Given the description of an element on the screen output the (x, y) to click on. 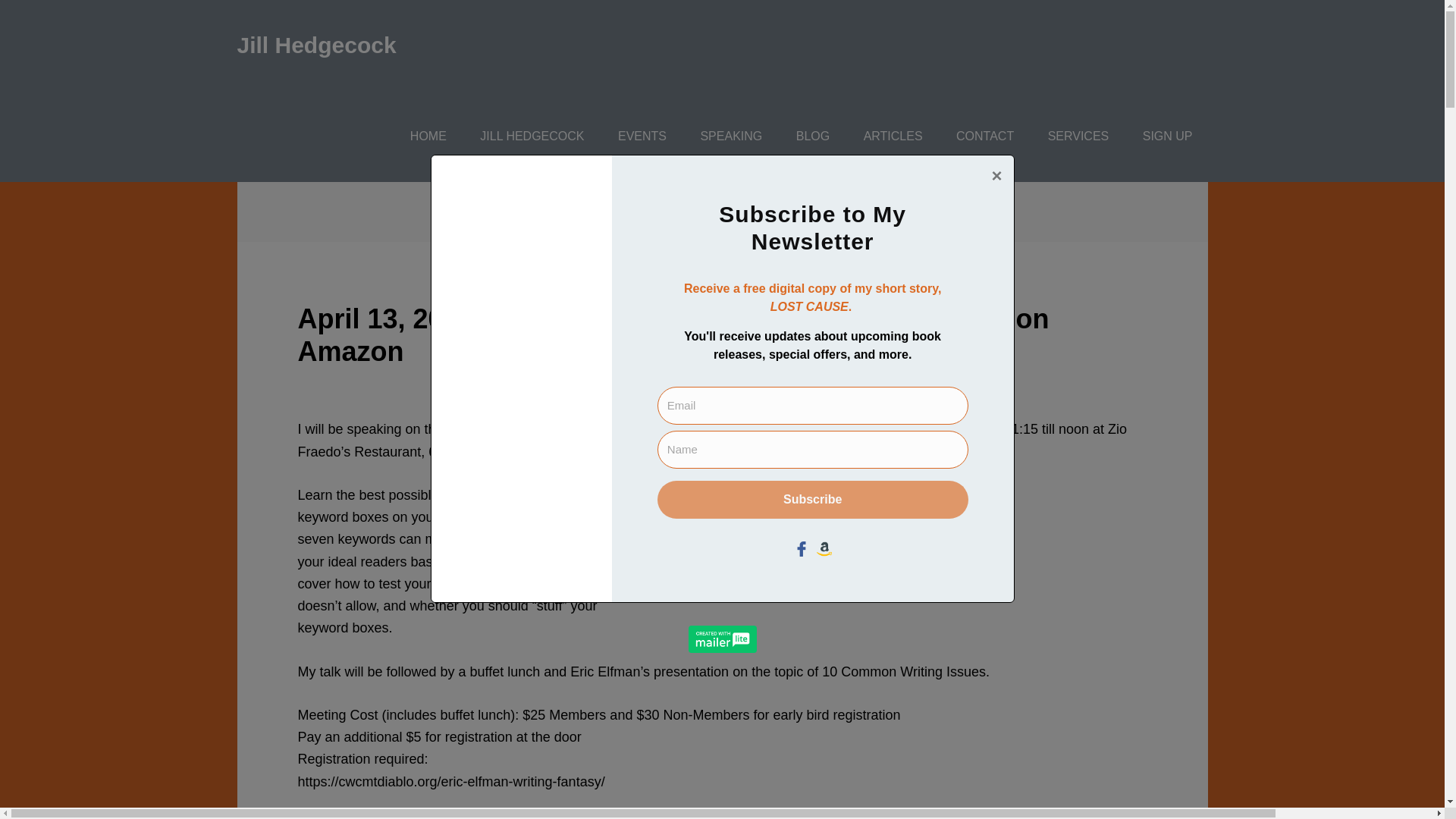
Jill Hedgecock (315, 44)
SPEAKING (730, 135)
JILL HEDGECOCK (531, 135)
CONTACT (984, 135)
SERVICES (1078, 135)
ARTICLES (892, 135)
